Given the description of an element on the screen output the (x, y) to click on. 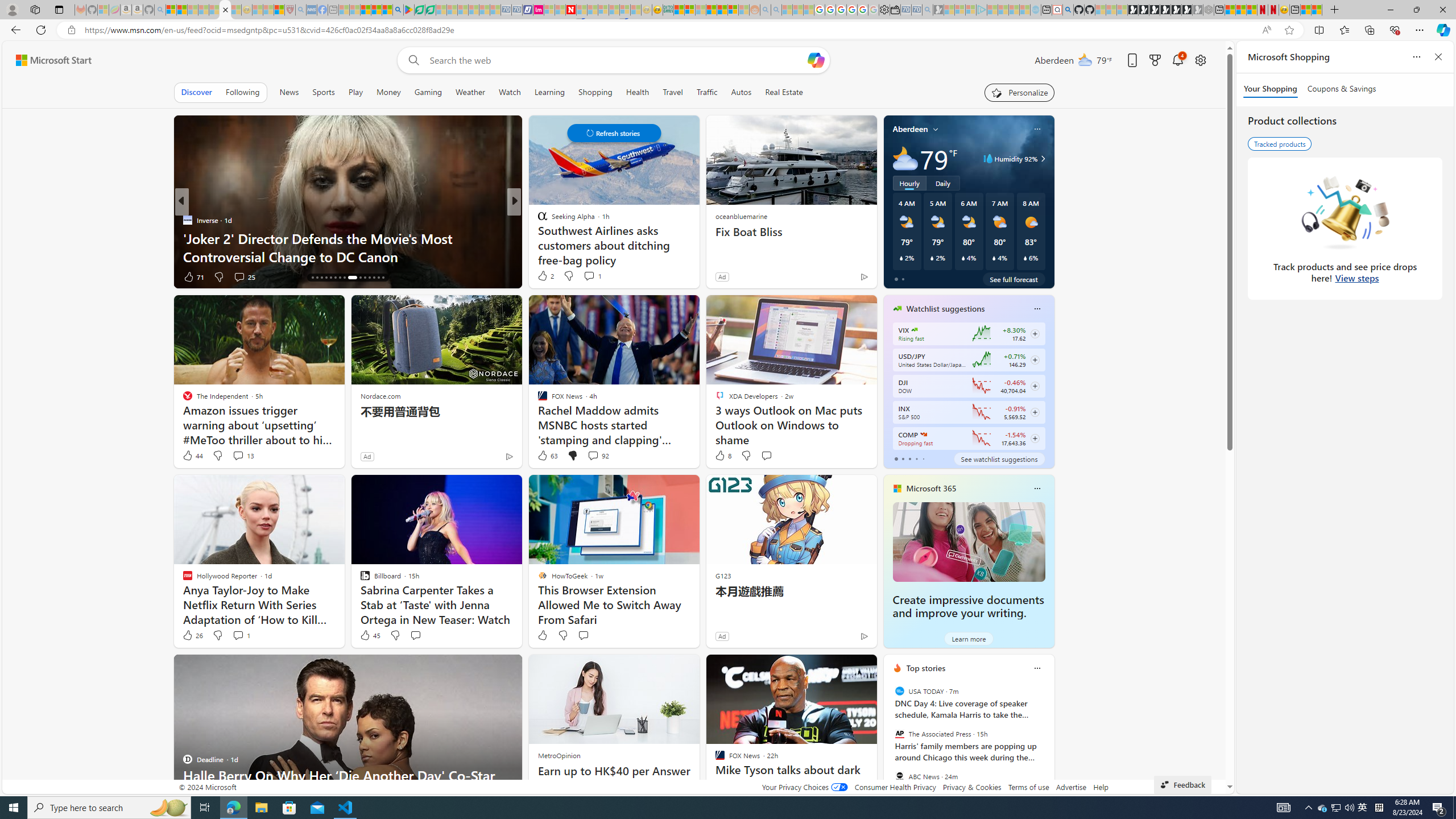
CNN (187, 219)
Start the conversation (583, 634)
View comments 3 Comment (592, 276)
AutomationID: tab-28 (374, 277)
Your Privacy Choices (804, 786)
Gaming (428, 92)
Help (1100, 786)
Autos (740, 92)
My location (936, 128)
Wildlife - MSN (1305, 9)
